Given the description of an element on the screen output the (x, y) to click on. 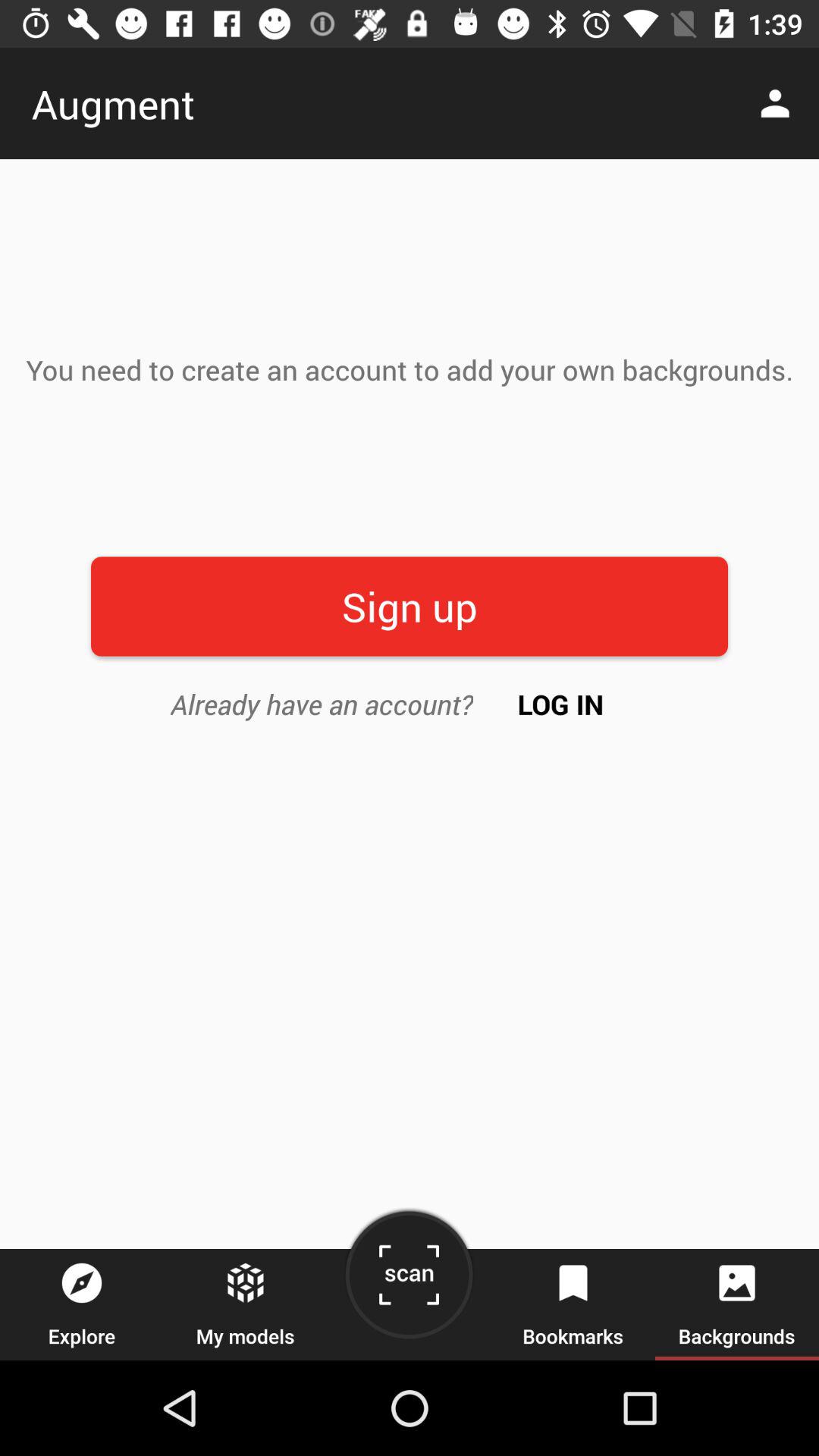
open item to the right of the augment icon (779, 103)
